Given the description of an element on the screen output the (x, y) to click on. 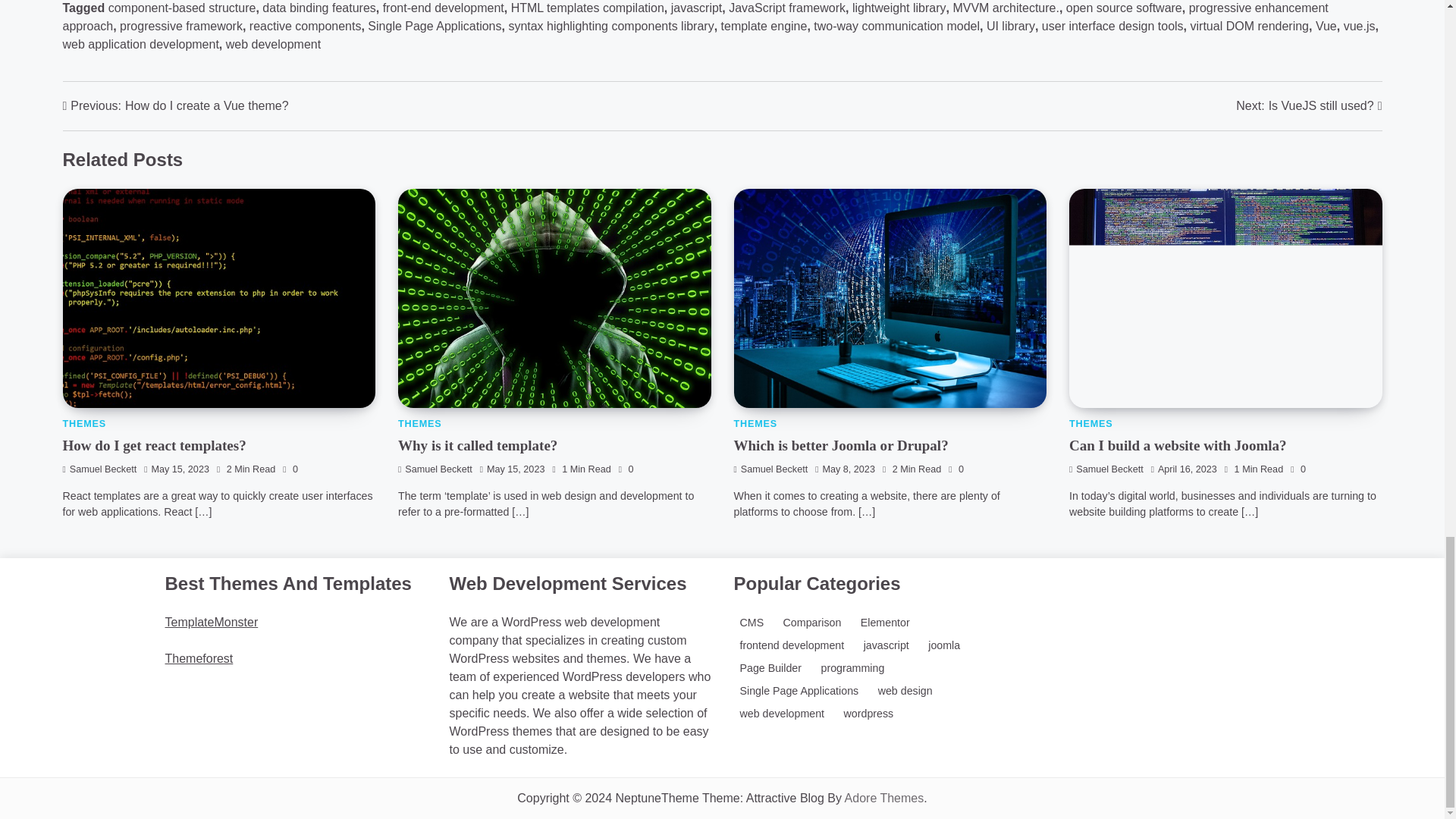
syntax highlighting components library (610, 25)
lightweight library (898, 7)
reactive components (304, 25)
two-way communication model (896, 25)
Single Page Applications (434, 25)
open source software (1123, 7)
component-based structure (181, 7)
javascript (696, 7)
progressive framework (181, 25)
MVVM architecture. (1005, 7)
data binding features (318, 7)
JavaScript framework (787, 7)
template engine (764, 25)
progressive enhancement approach (694, 16)
front-end development (442, 7)
